Given the description of an element on the screen output the (x, y) to click on. 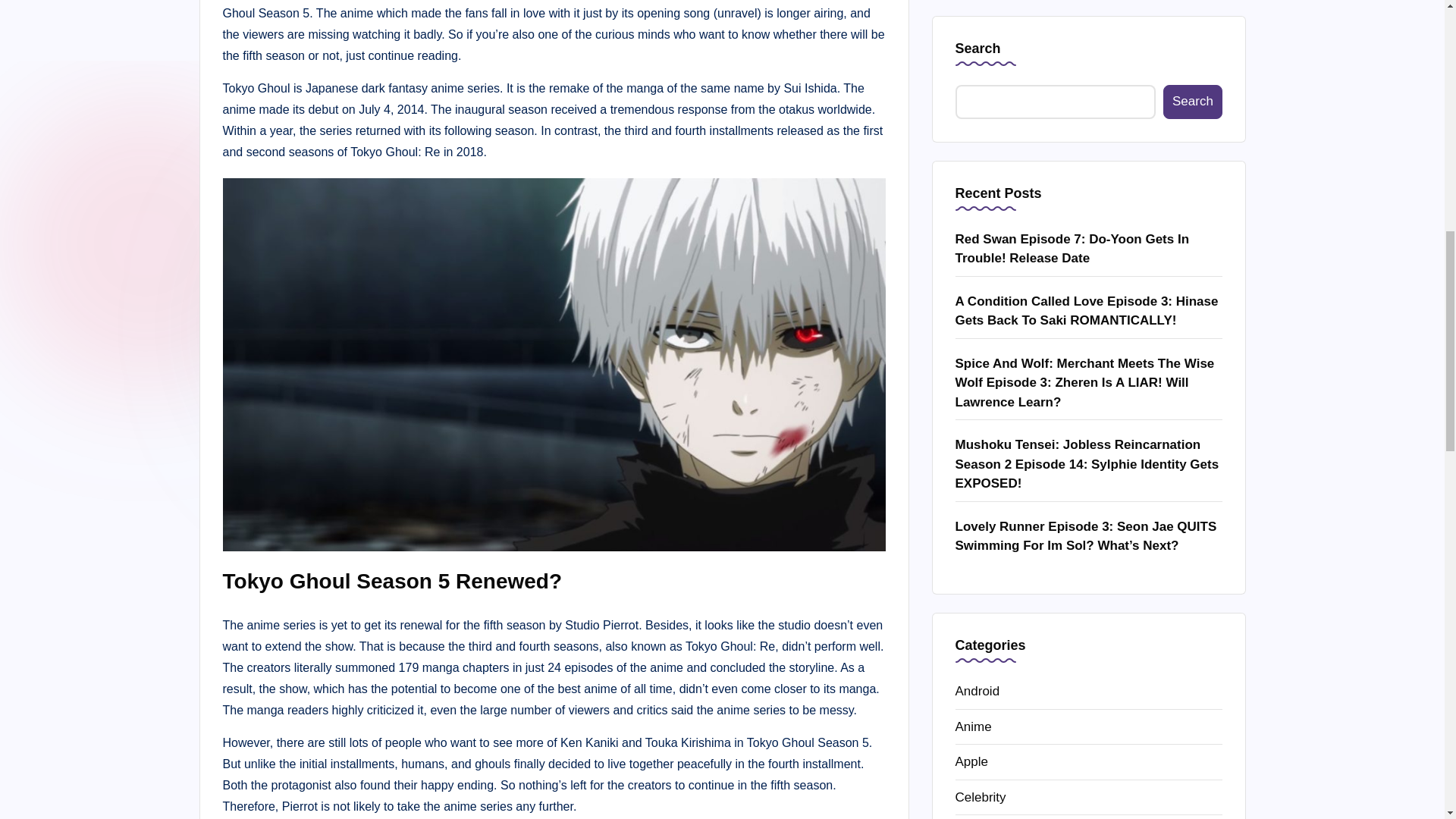
Apple (1089, 114)
Days of Our Lives (1089, 184)
Entertainment (1089, 220)
Celebrity (1089, 149)
Anime (1089, 79)
Android (1089, 44)
